Given the description of an element on the screen output the (x, y) to click on. 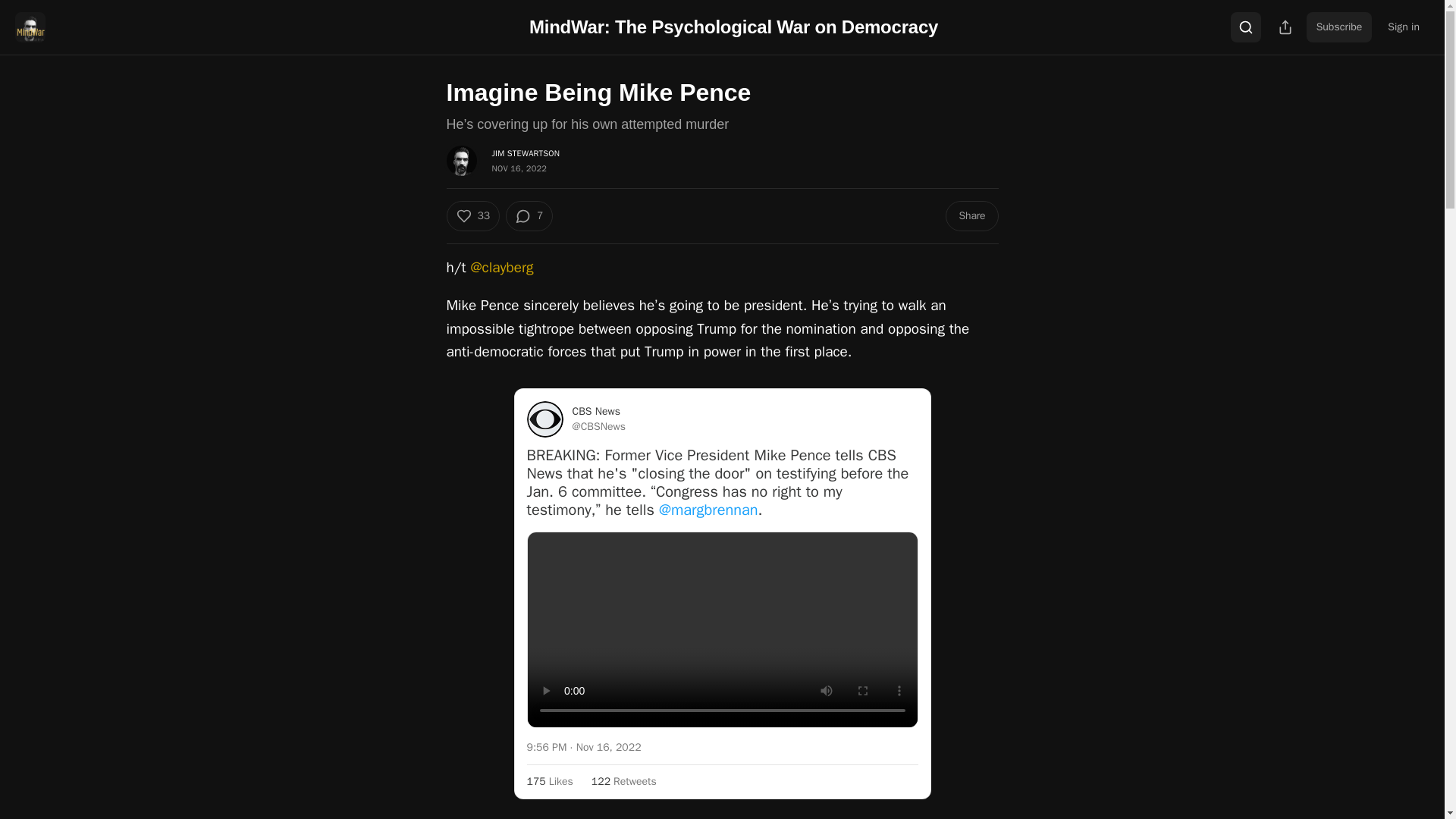
7 (529, 215)
Share (970, 215)
Subscribe (1339, 27)
Sign in (1403, 27)
MindWar: The Psychological War on Democracy (733, 26)
JIM STEWARTSON (525, 153)
33 (472, 215)
